Given the description of an element on the screen output the (x, y) to click on. 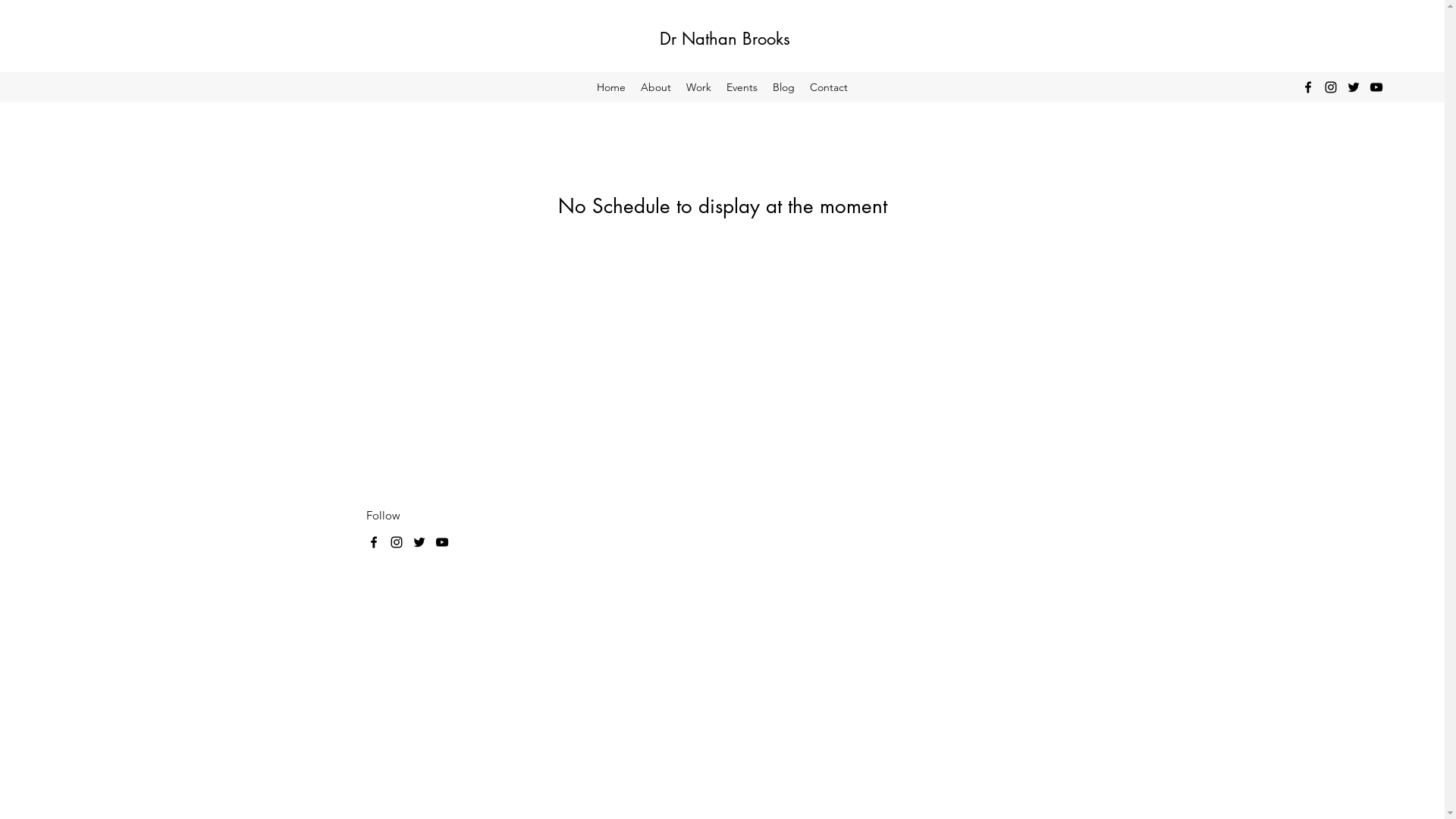
Home Element type: text (611, 86)
Dr Nathan Brooks Element type: text (724, 38)
Work Element type: text (698, 86)
Events Element type: text (741, 86)
About Element type: text (655, 86)
Contact Element type: text (828, 86)
Blog Element type: text (783, 86)
